Given the description of an element on the screen output the (x, y) to click on. 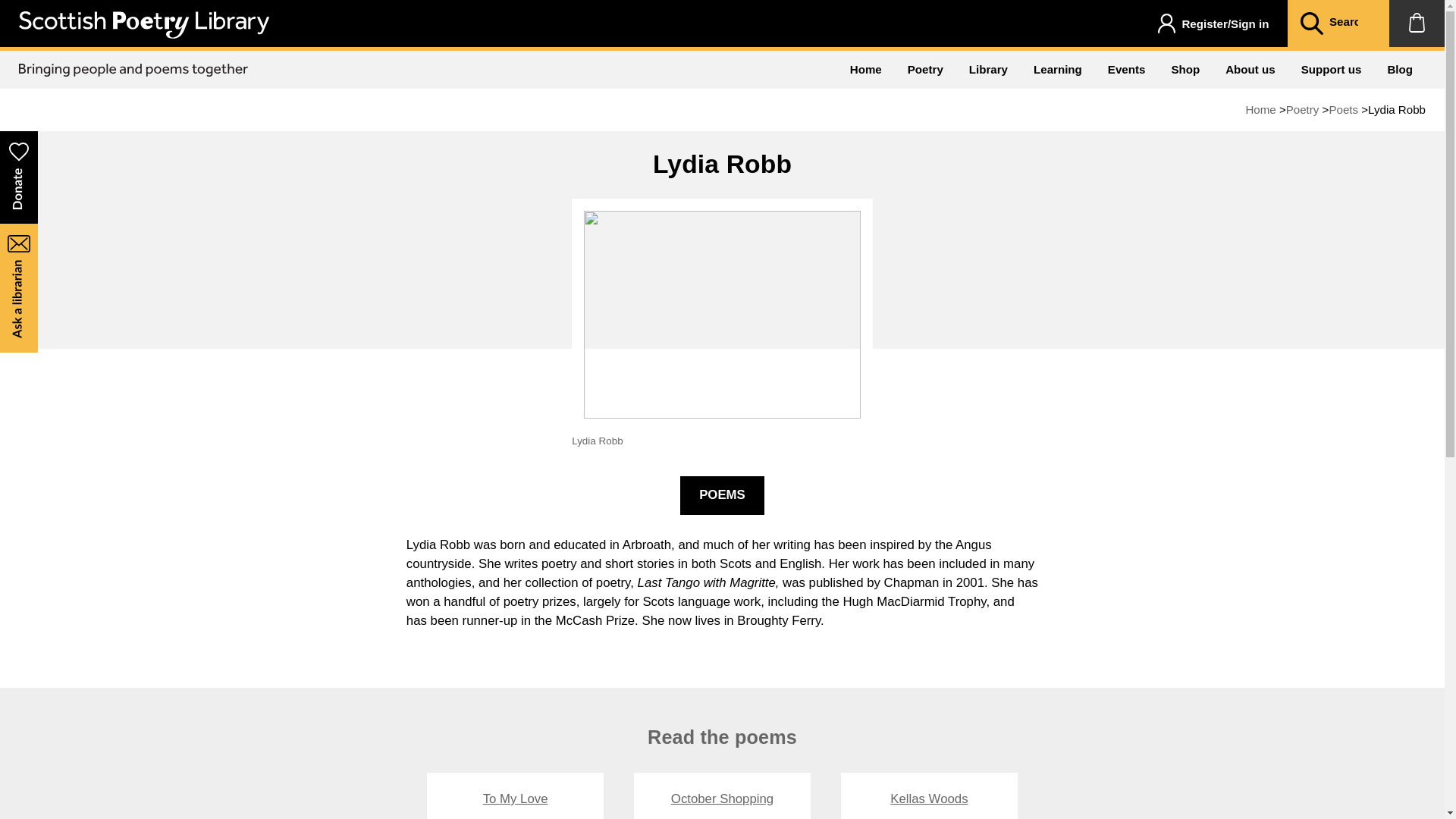
Scottish Poetry Library logo (143, 24)
Scottish Poetry Library (143, 34)
Home (866, 69)
Search (1310, 24)
Poetry (925, 69)
Shopping Bag (1416, 23)
Search site: (1350, 22)
Home (1259, 109)
Poetry (1302, 109)
Poets (1342, 109)
Learning (1057, 69)
Library (988, 69)
